Given the description of an element on the screen output the (x, y) to click on. 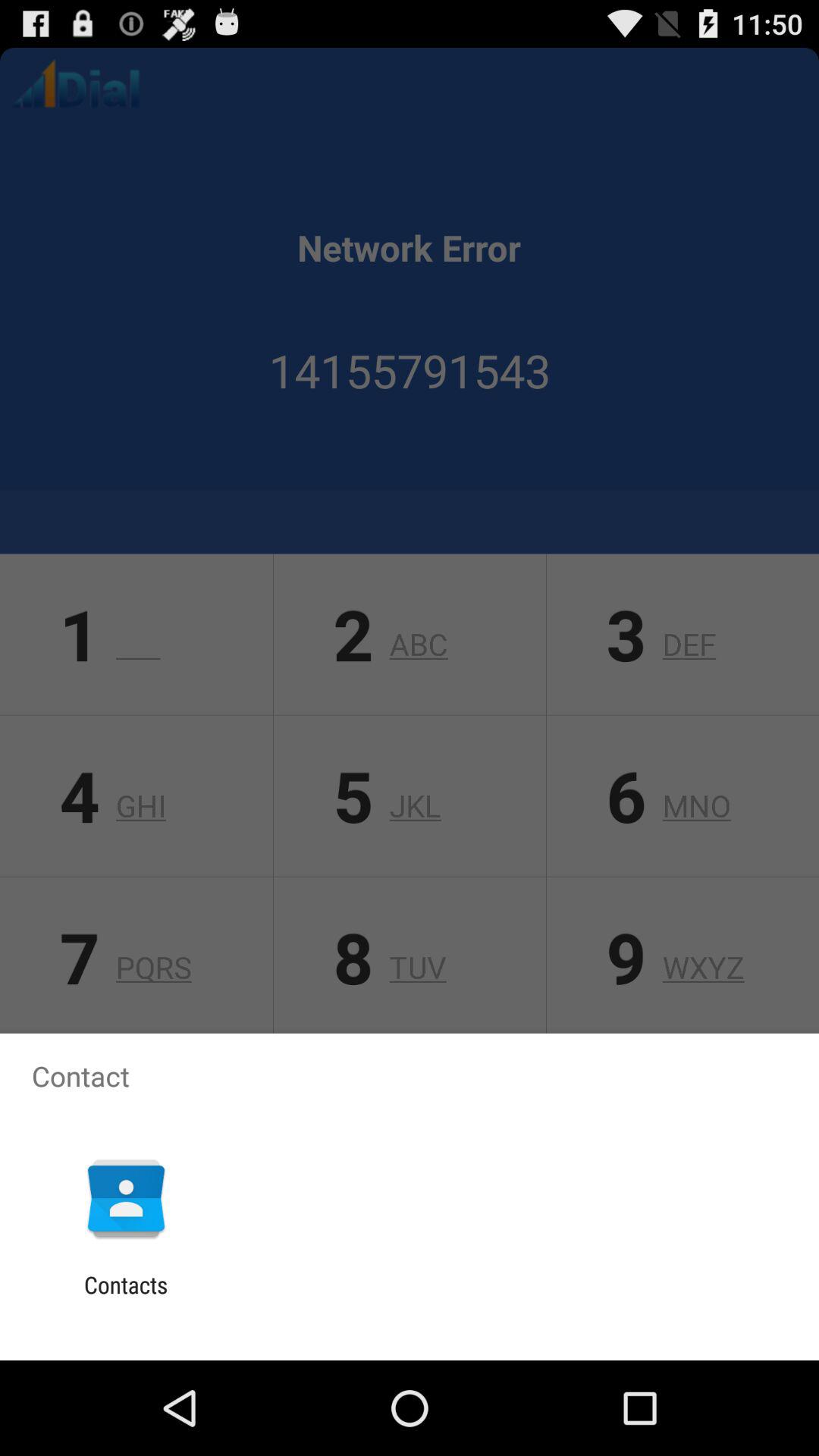
click the app below contact item (126, 1198)
